Given the description of an element on the screen output the (x, y) to click on. 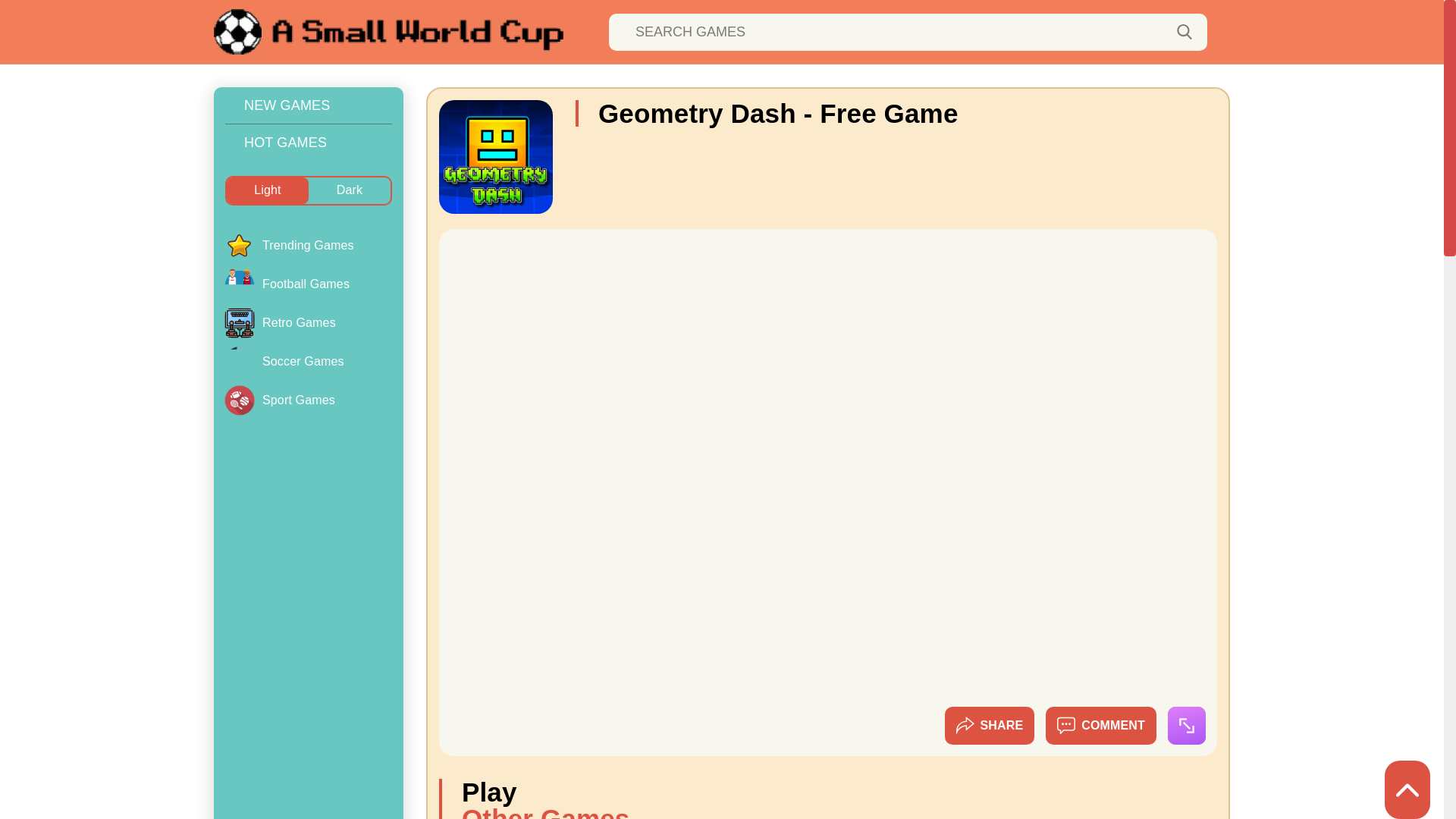
SHARE (989, 725)
HOT GAMES (308, 142)
Retro Games (308, 322)
NEW GAMES (308, 104)
Retro Games (239, 322)
New Games (308, 104)
Trending Games (308, 245)
Dark (349, 190)
Hot Games (308, 142)
